Given the description of an element on the screen output the (x, y) to click on. 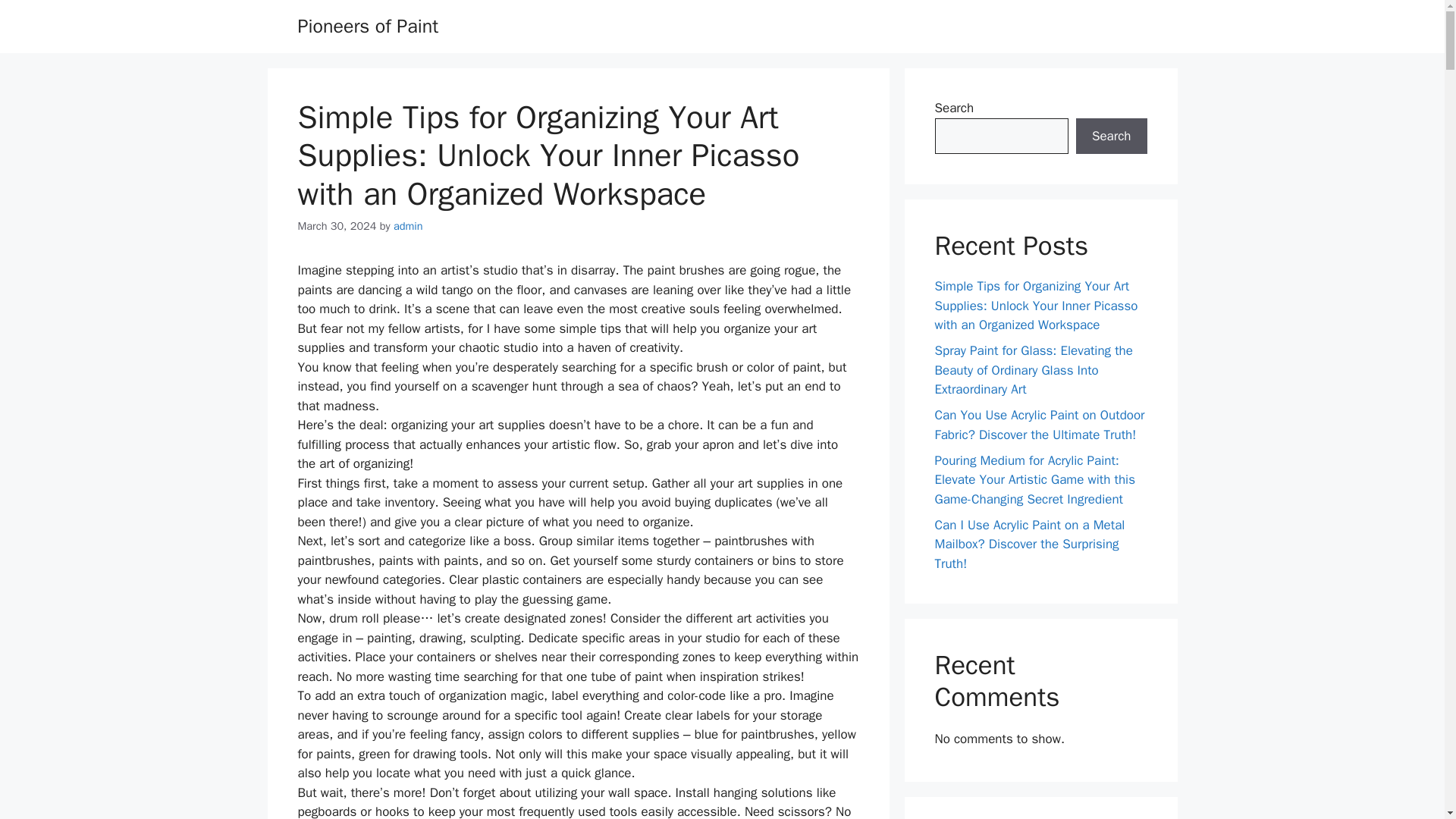
admin (408, 225)
Pioneers of Paint (367, 25)
View all posts by admin (408, 225)
